Given the description of an element on the screen output the (x, y) to click on. 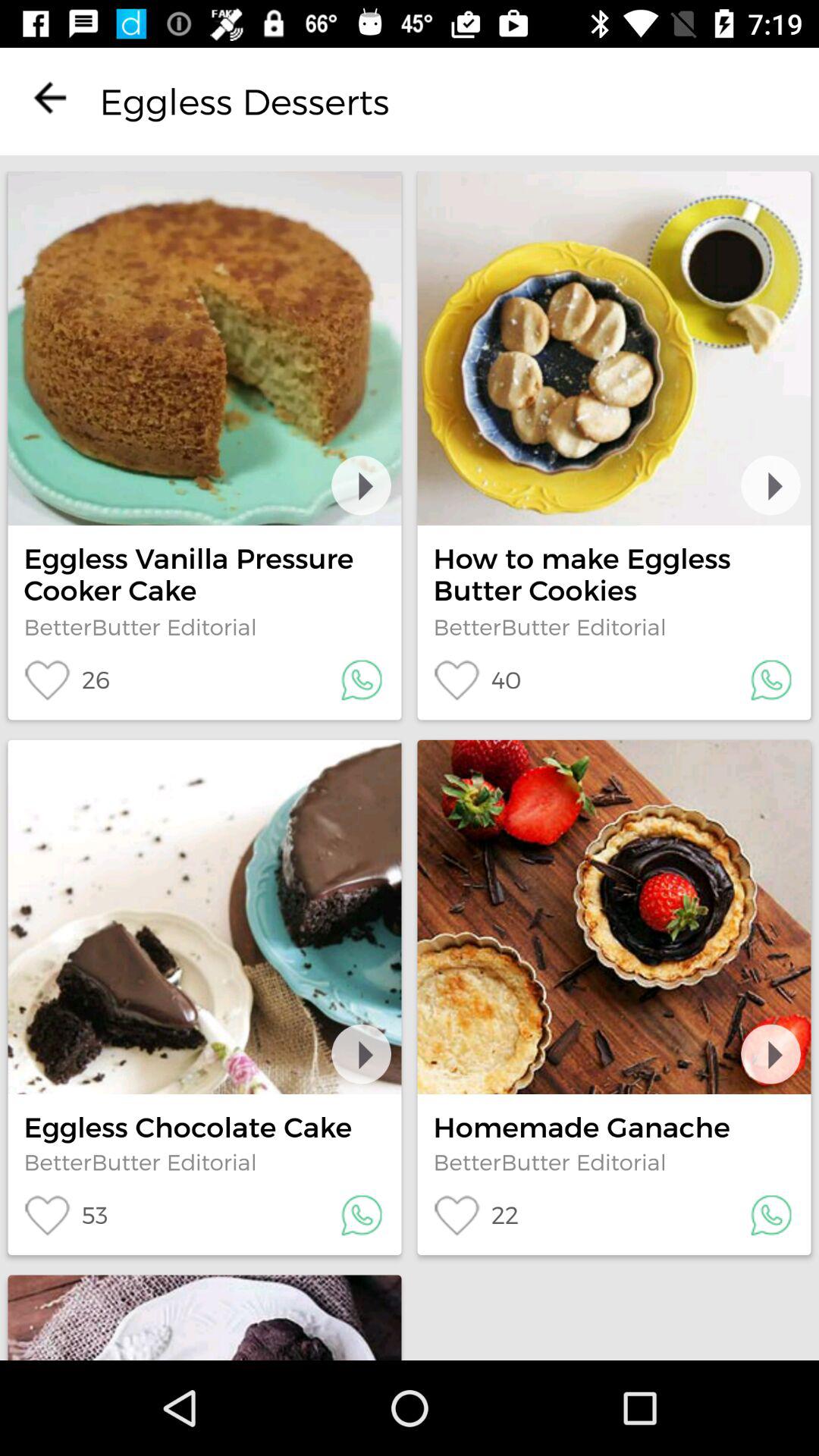
press the item below the betterbutter editorial item (66, 680)
